Given the description of an element on the screen output the (x, y) to click on. 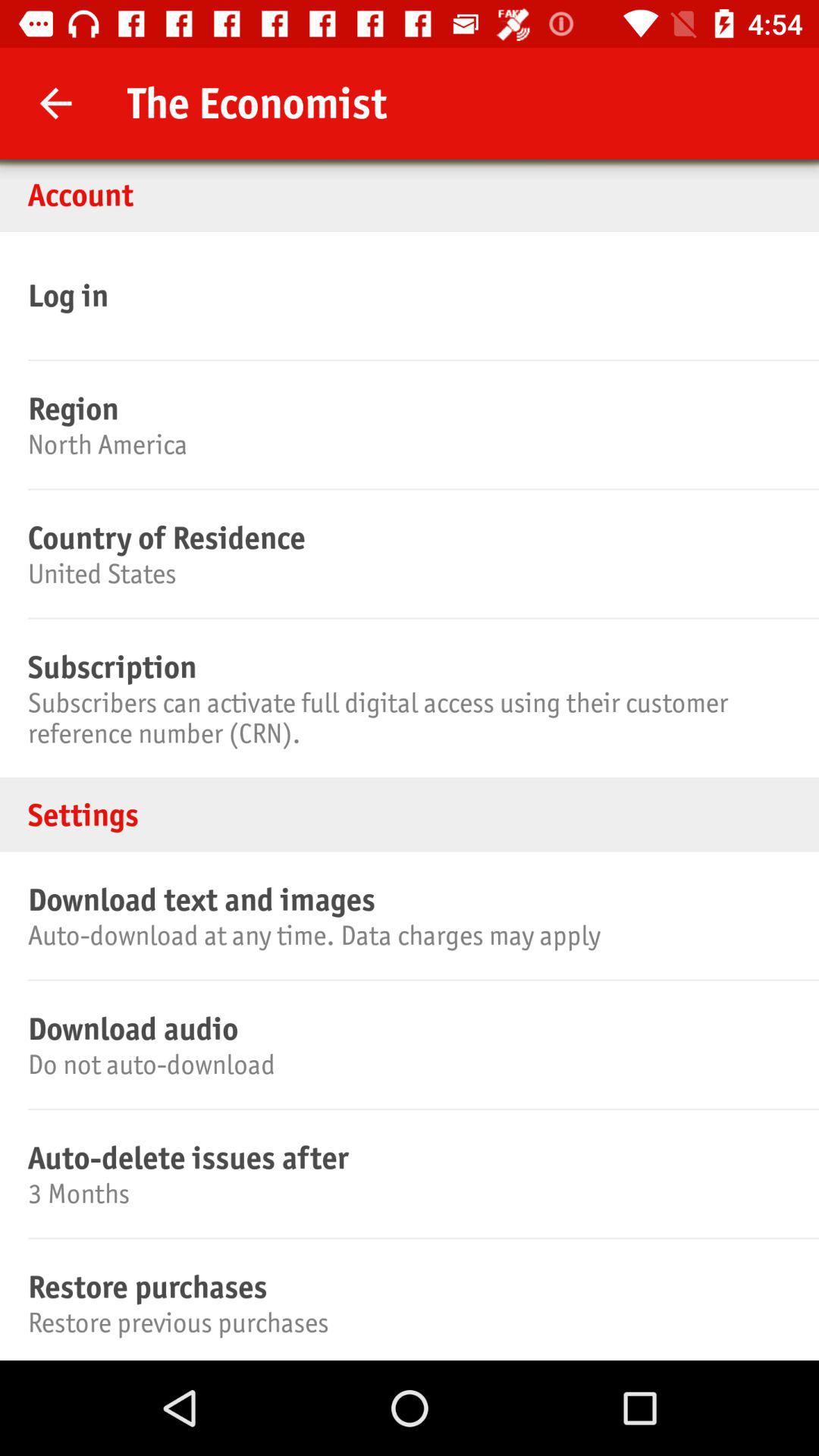
turn on item above the region (407, 295)
